Given the description of an element on the screen output the (x, y) to click on. 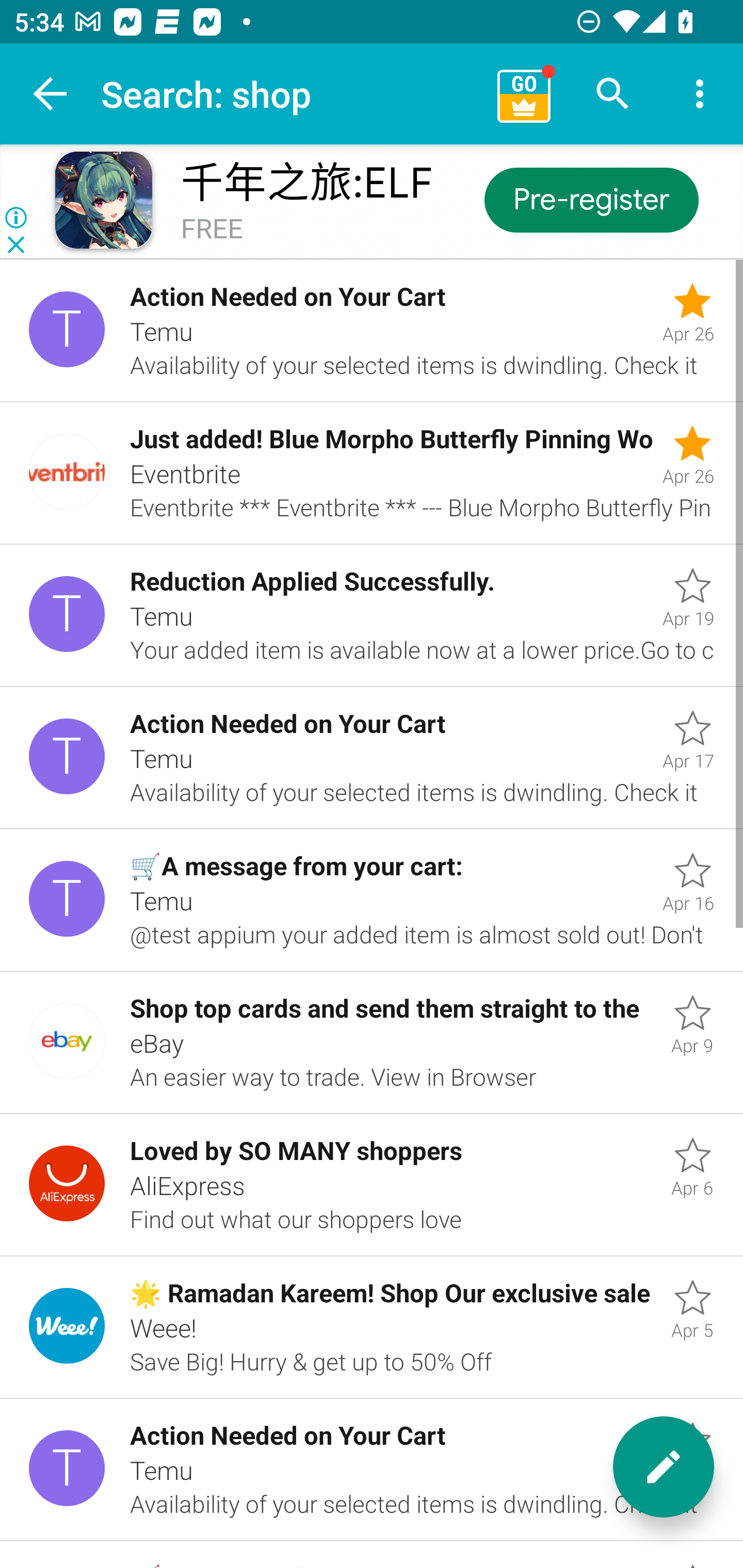
Navigate up (50, 93)
Search (612, 93)
More options (699, 93)
千年之旅:ELF (306, 183)
Pre-register (590, 199)
FREE (211, 230)
New message (663, 1466)
